Given the description of an element on the screen output the (x, y) to click on. 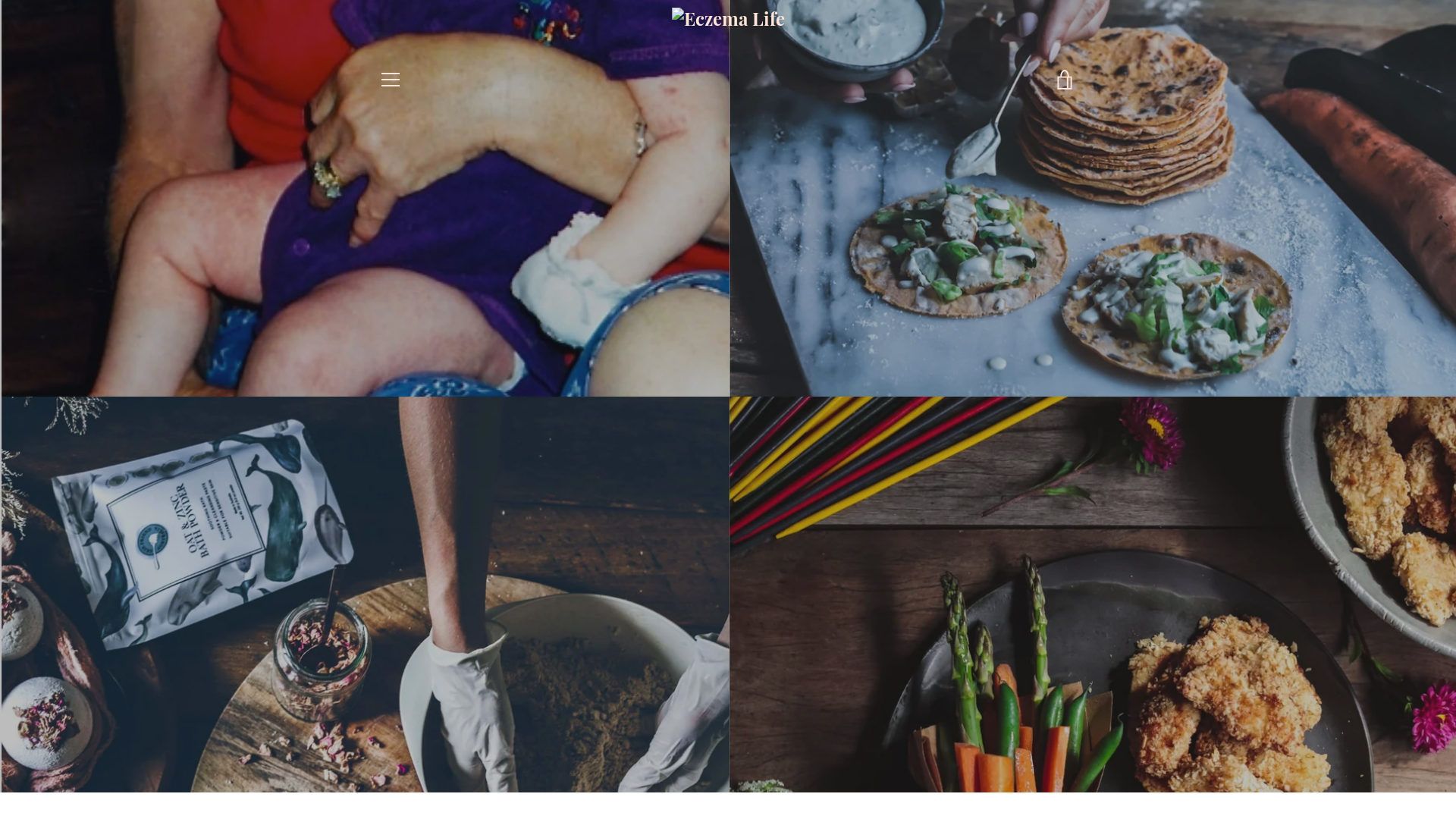
VIEW CART Element type: text (1065, 79)
MENU Element type: text (390, 79)
Skip to content Element type: text (0, 0)
